Given the description of an element on the screen output the (x, y) to click on. 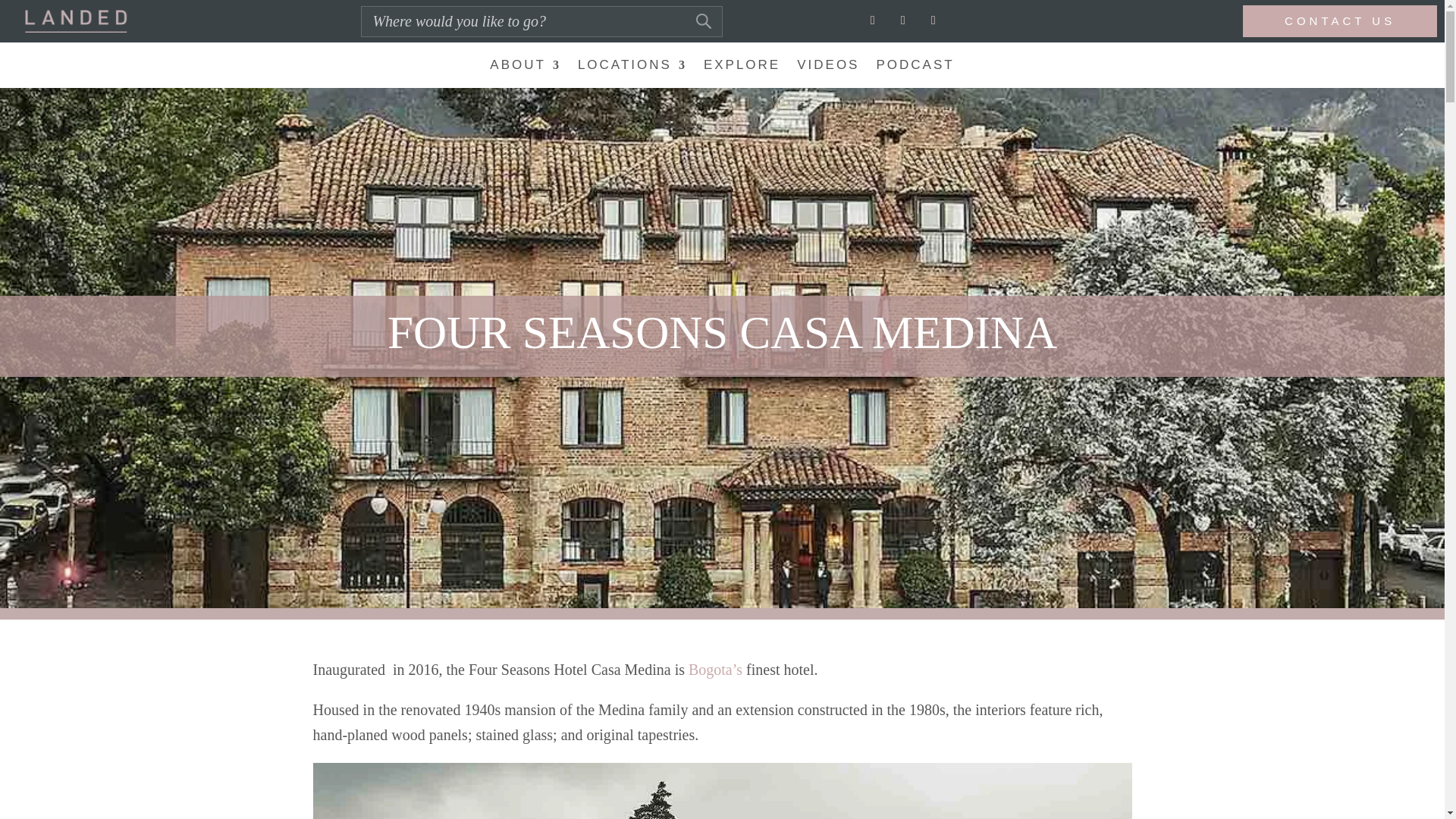
Follow on Instagram (872, 20)
LOCATIONS (632, 67)
Follow on Spotify (932, 20)
CONTACT US (1340, 20)
Follow (872, 20)
Follow (932, 20)
ABOUT (524, 67)
Follow (903, 20)
Search (21, 14)
Landed Travel Homepage (76, 20)
Follow on Facebook (903, 20)
